Given the description of an element on the screen output the (x, y) to click on. 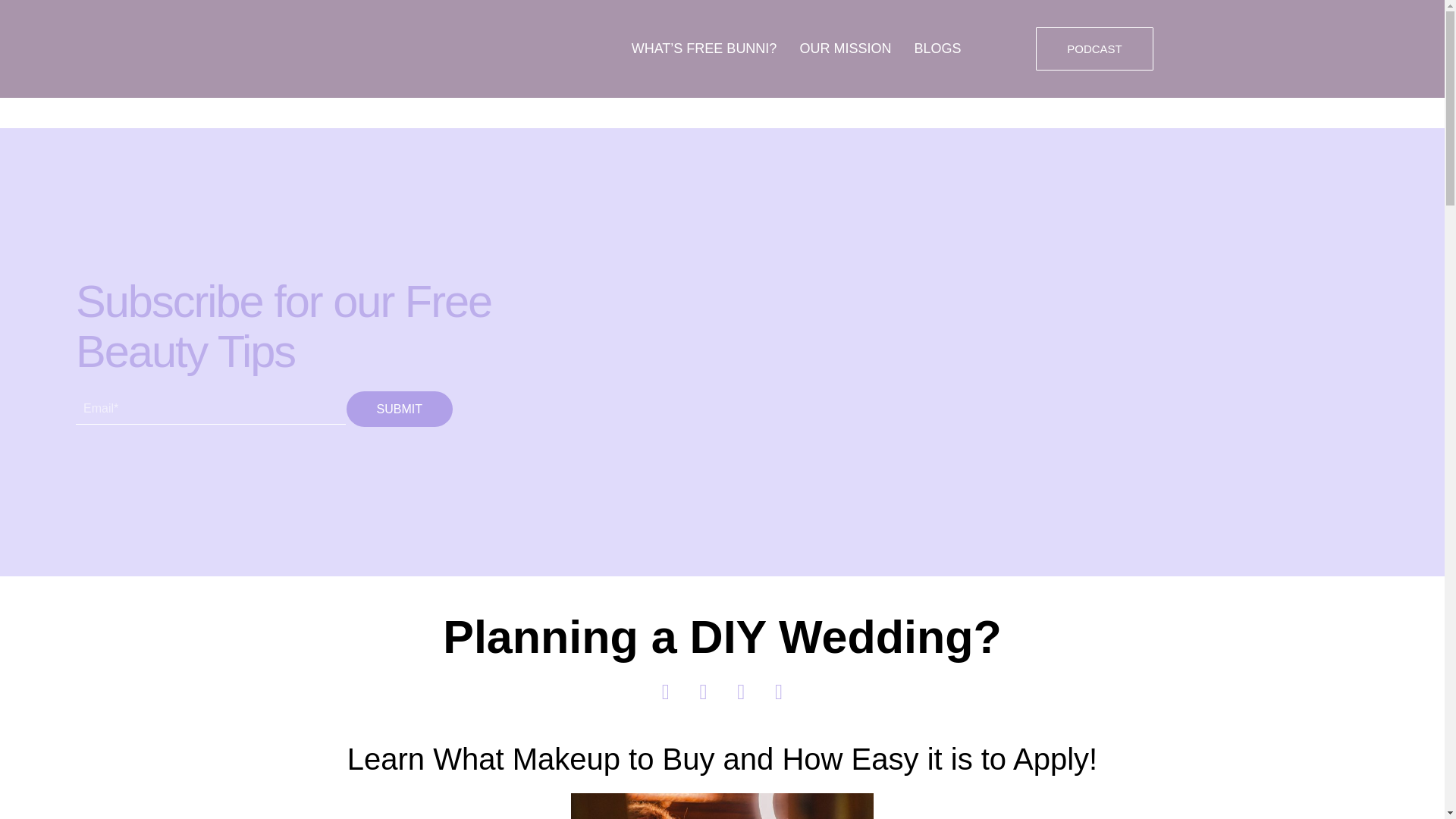
OUR MISSION (844, 48)
PODCAST (1094, 48)
BLOGS (937, 48)
